Given the description of an element on the screen output the (x, y) to click on. 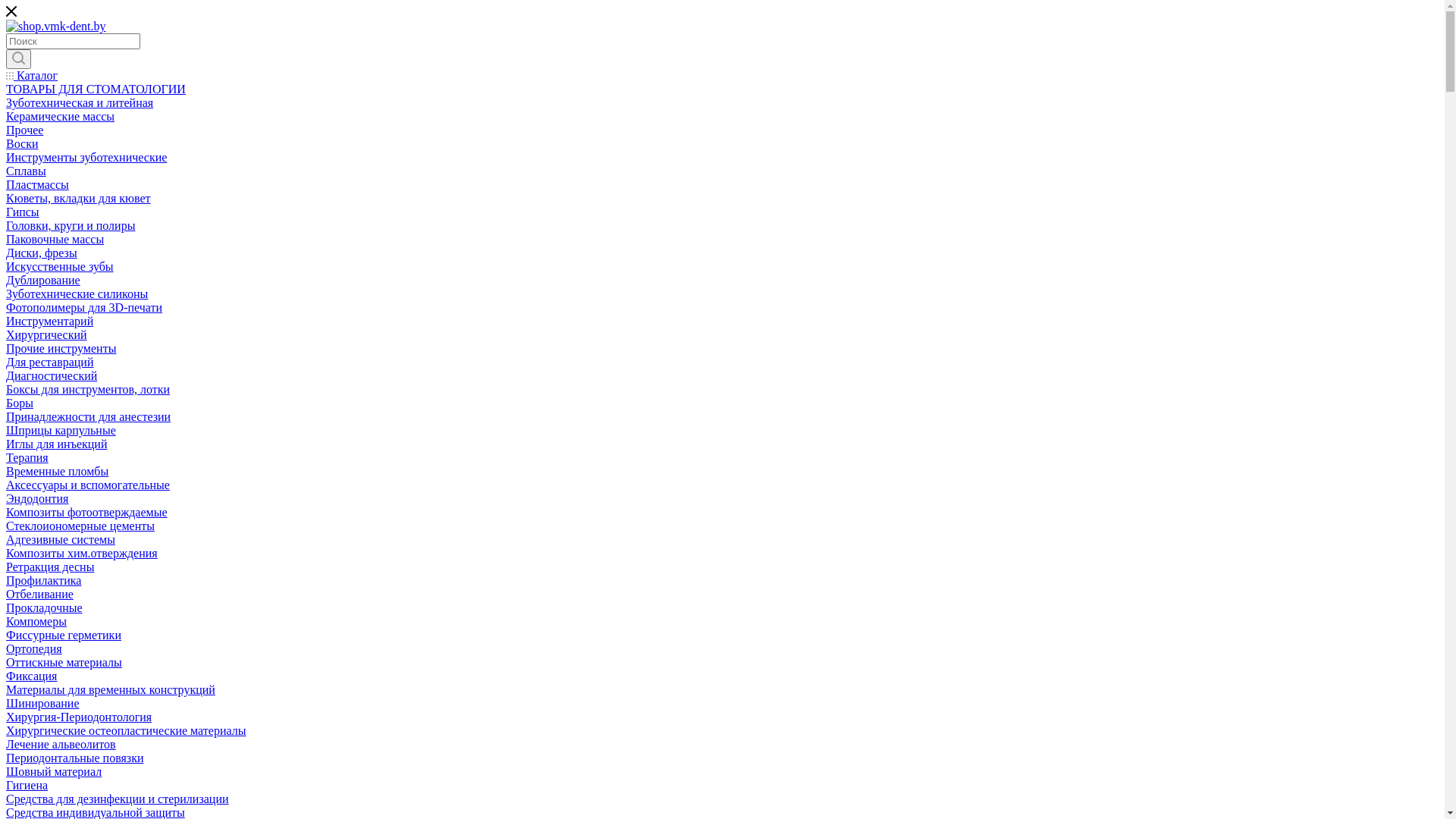
shop.vmk-dent.by Element type: hover (56, 26)
